Given the description of an element on the screen output the (x, y) to click on. 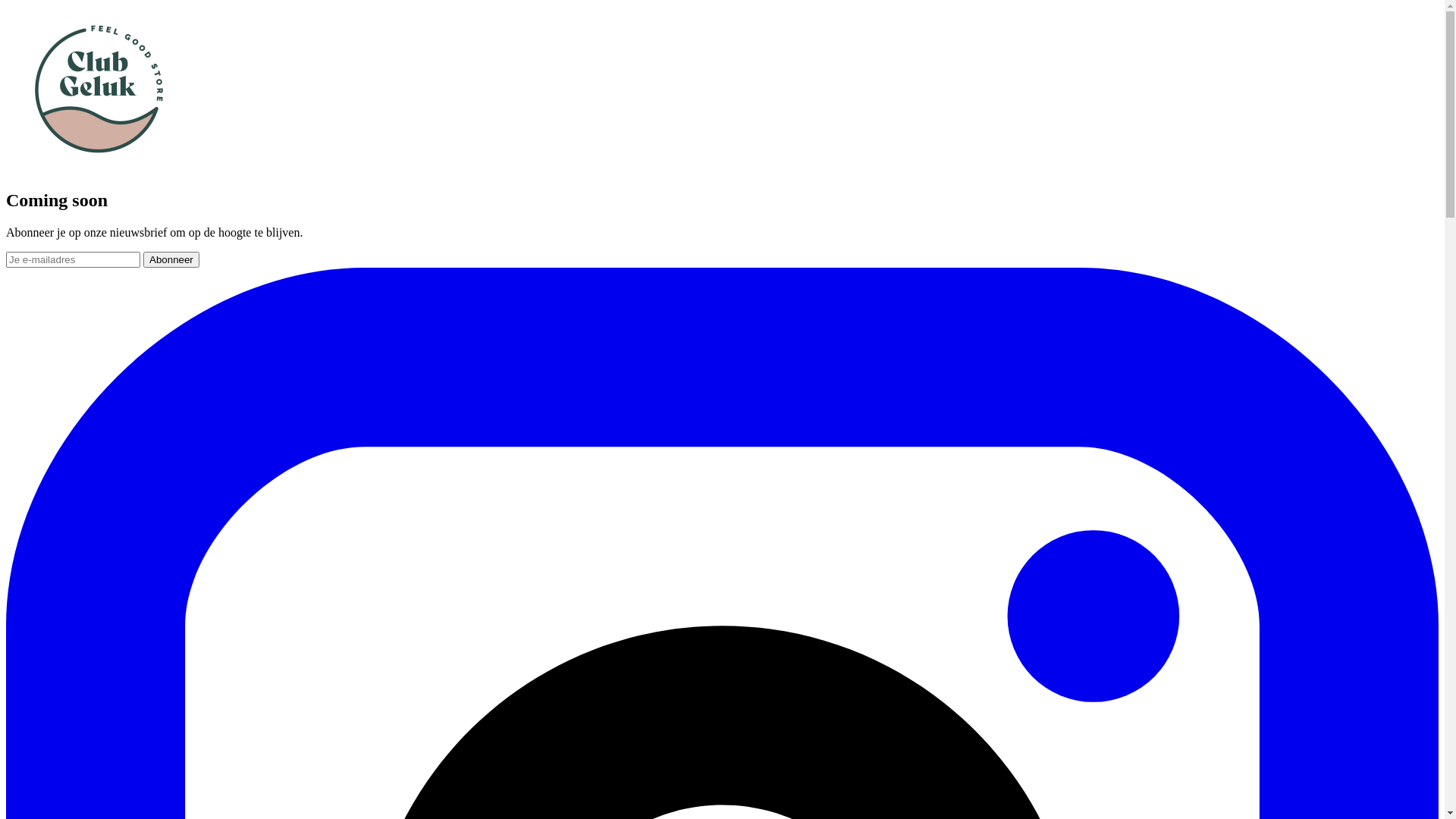
Club Geluk Element type: hover (98, 167)
Abonneer Element type: text (171, 259)
